Given the description of an element on the screen output the (x, y) to click on. 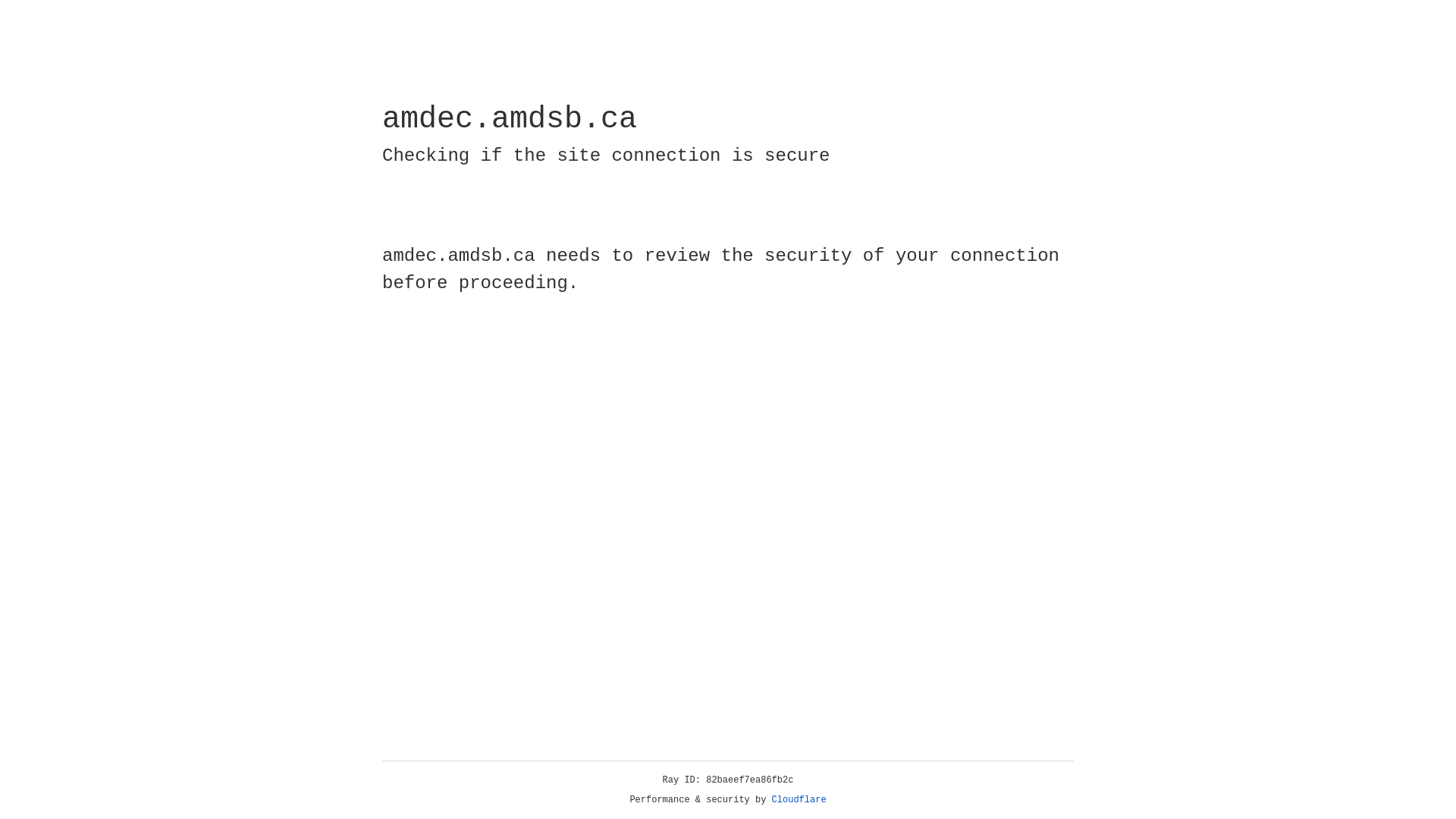
Cloudflare Element type: text (798, 799)
